Given the description of an element on the screen output the (x, y) to click on. 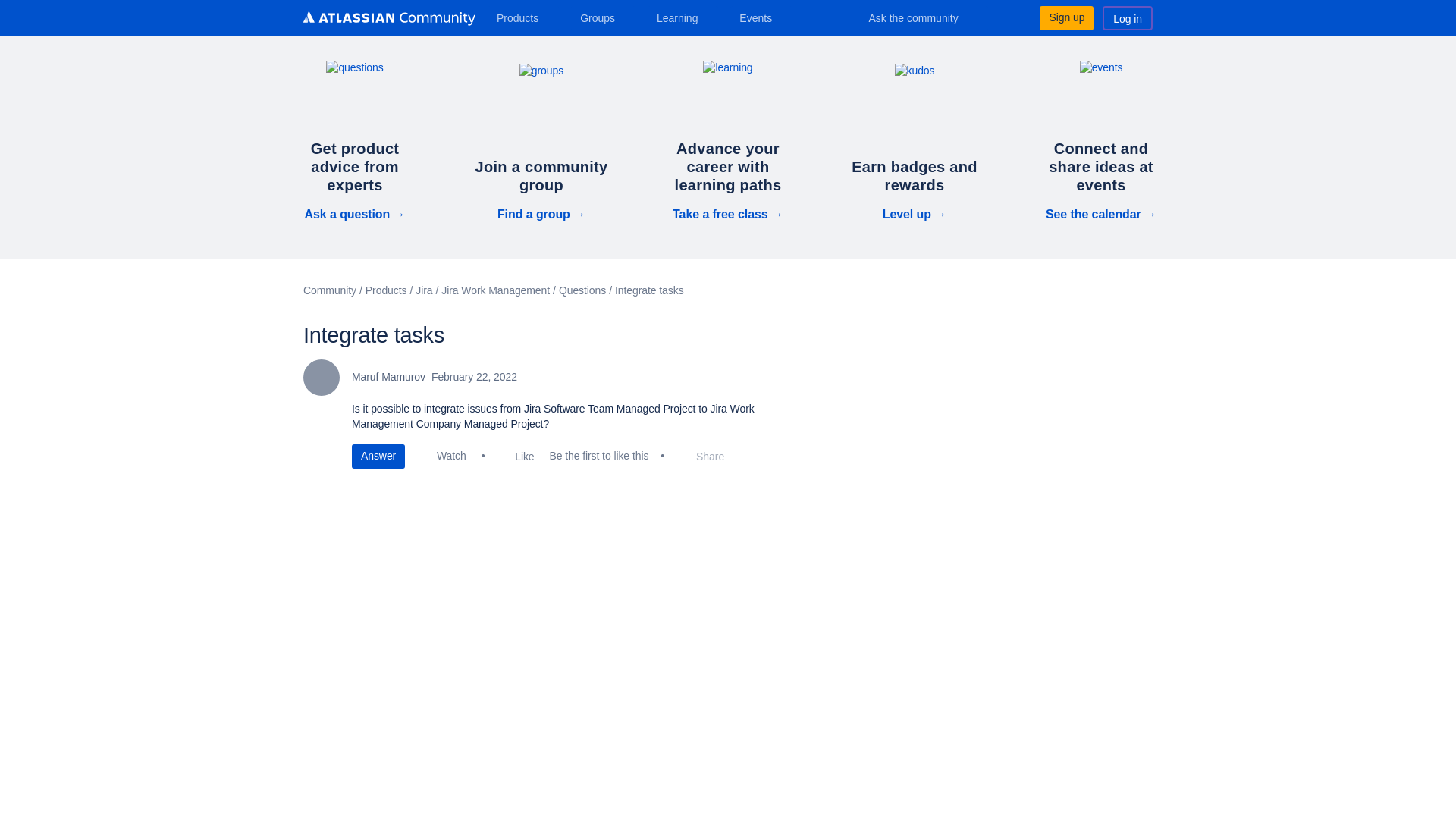
Events (761, 17)
Learning (682, 17)
Atlassian Community logo (389, 19)
Log in (1127, 17)
Maruf Mamurov (320, 377)
Ask the community  (923, 17)
Products (523, 17)
Sign up (1066, 17)
Groups (602, 17)
Atlassian Community logo (389, 18)
